Given the description of an element on the screen output the (x, y) to click on. 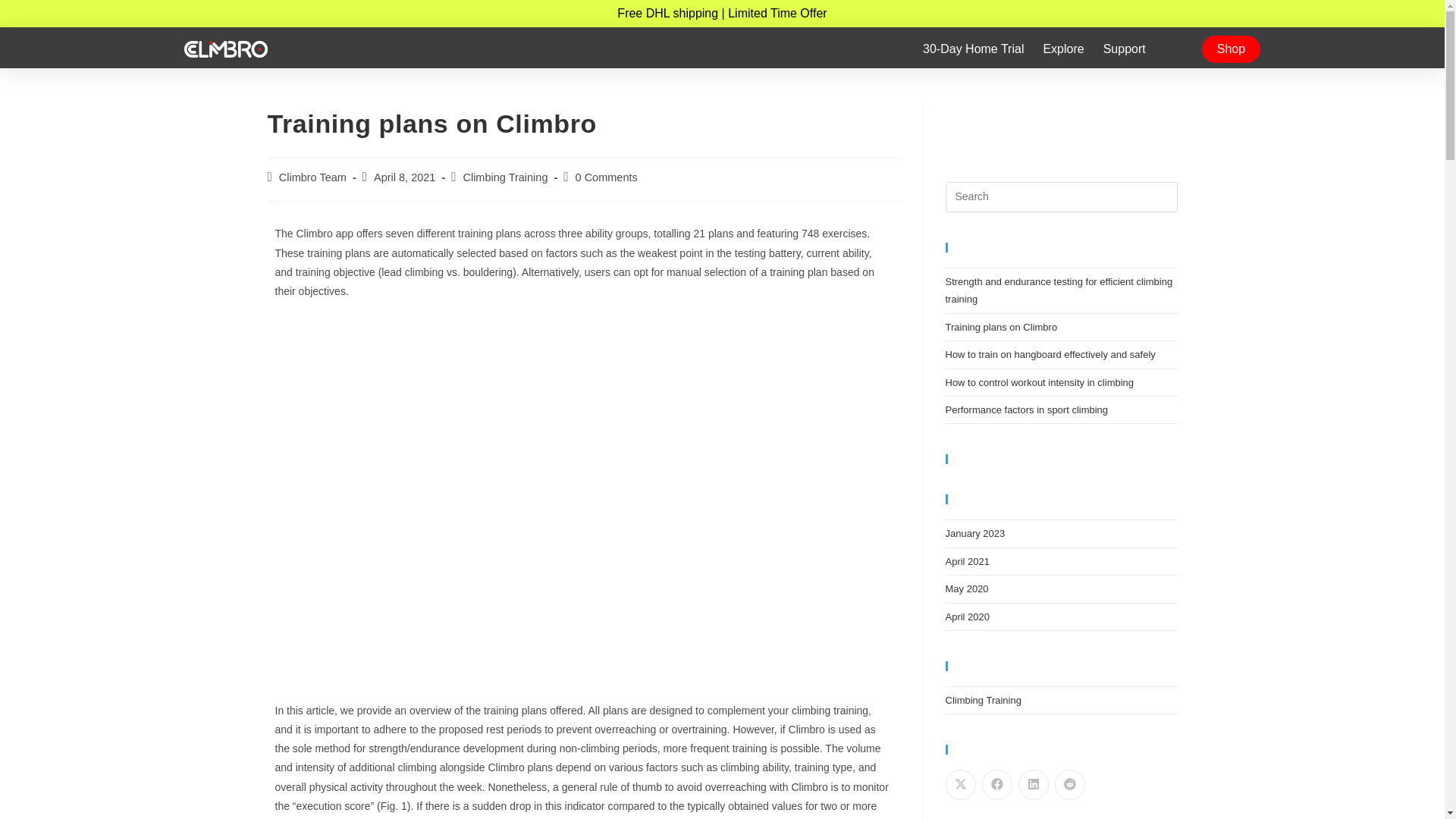
Climbro Team (312, 177)
Climbing Training (505, 177)
Share on Reddit (1069, 784)
30-Day Home Trial (973, 48)
Explore (1062, 48)
Share on Facebook (996, 784)
Support (1124, 48)
Share on LinkedIn (1032, 784)
How to train on hangboard effectively and safely (1049, 354)
0 Comments (606, 177)
